Given the description of an element on the screen output the (x, y) to click on. 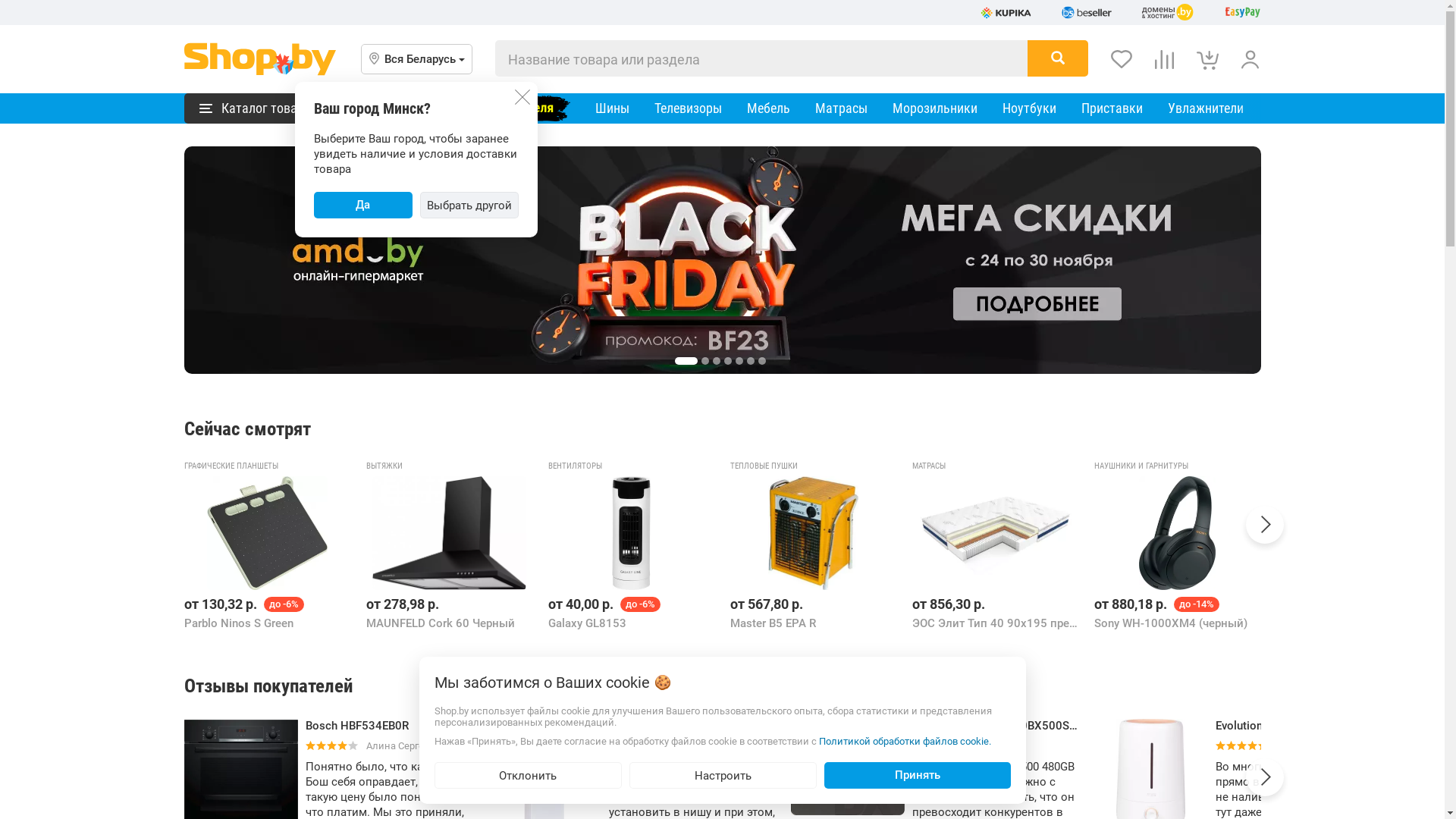
Master B5 EPA R Element type: hover (813, 532)
Galaxy GL8153 Element type: hover (630, 532)
Parblo Ninos S Green Element type: hover (267, 532)
